Given the description of an element on the screen output the (x, y) to click on. 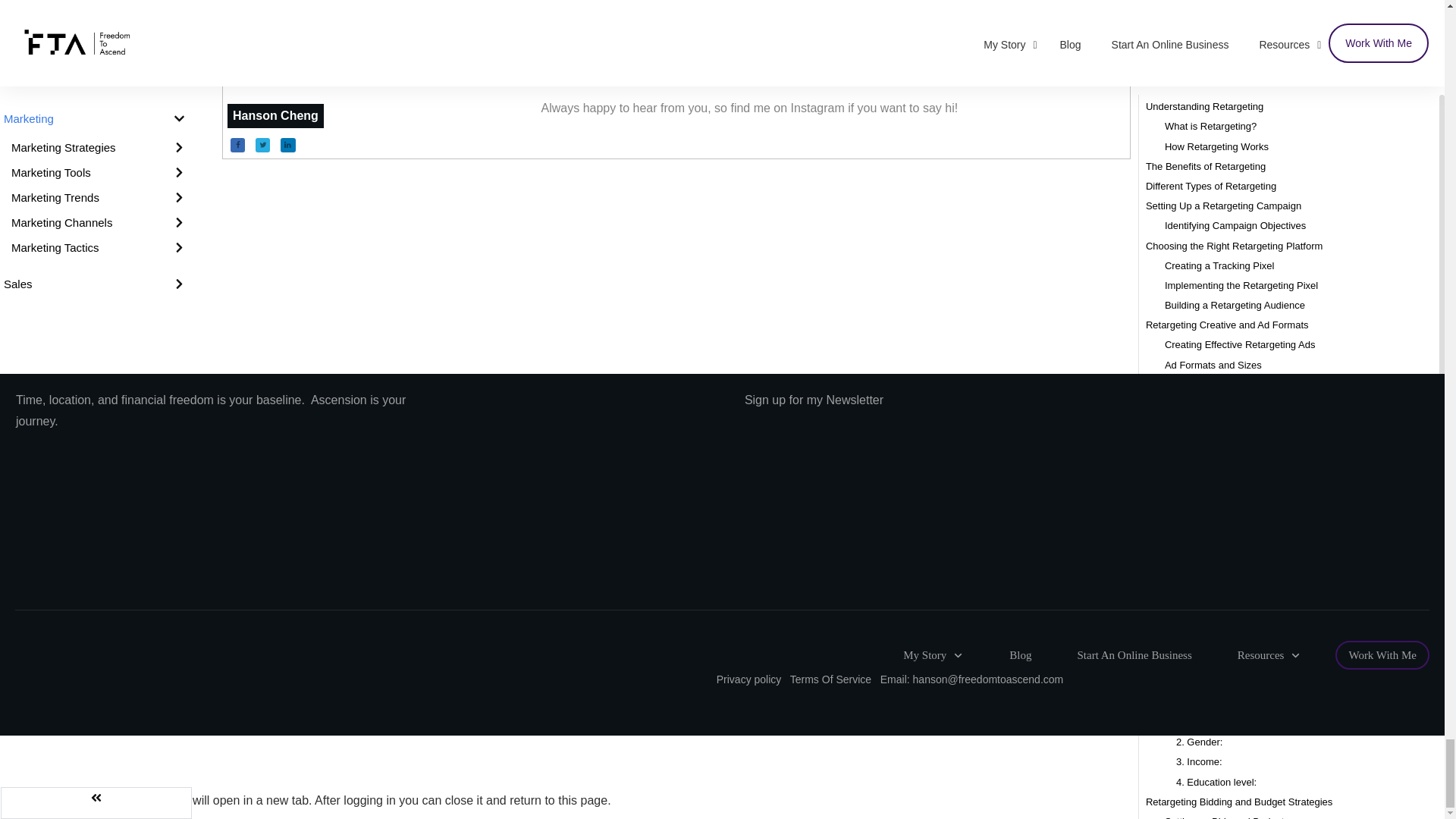
FTA Email Optin (1086, 503)
